Given the description of an element on the screen output the (x, y) to click on. 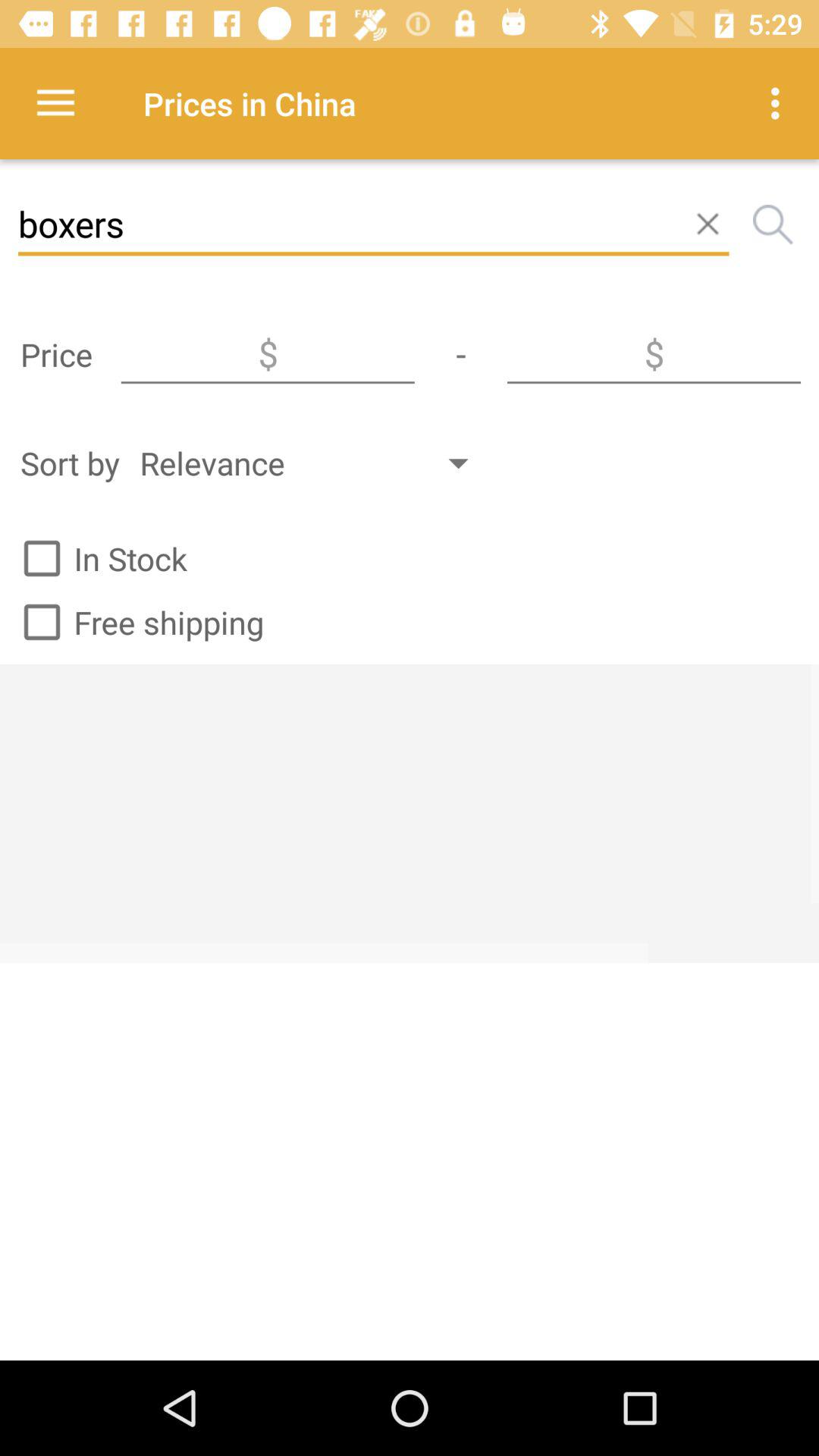
choose the icon next to prices in china (55, 103)
